Given the description of an element on the screen output the (x, y) to click on. 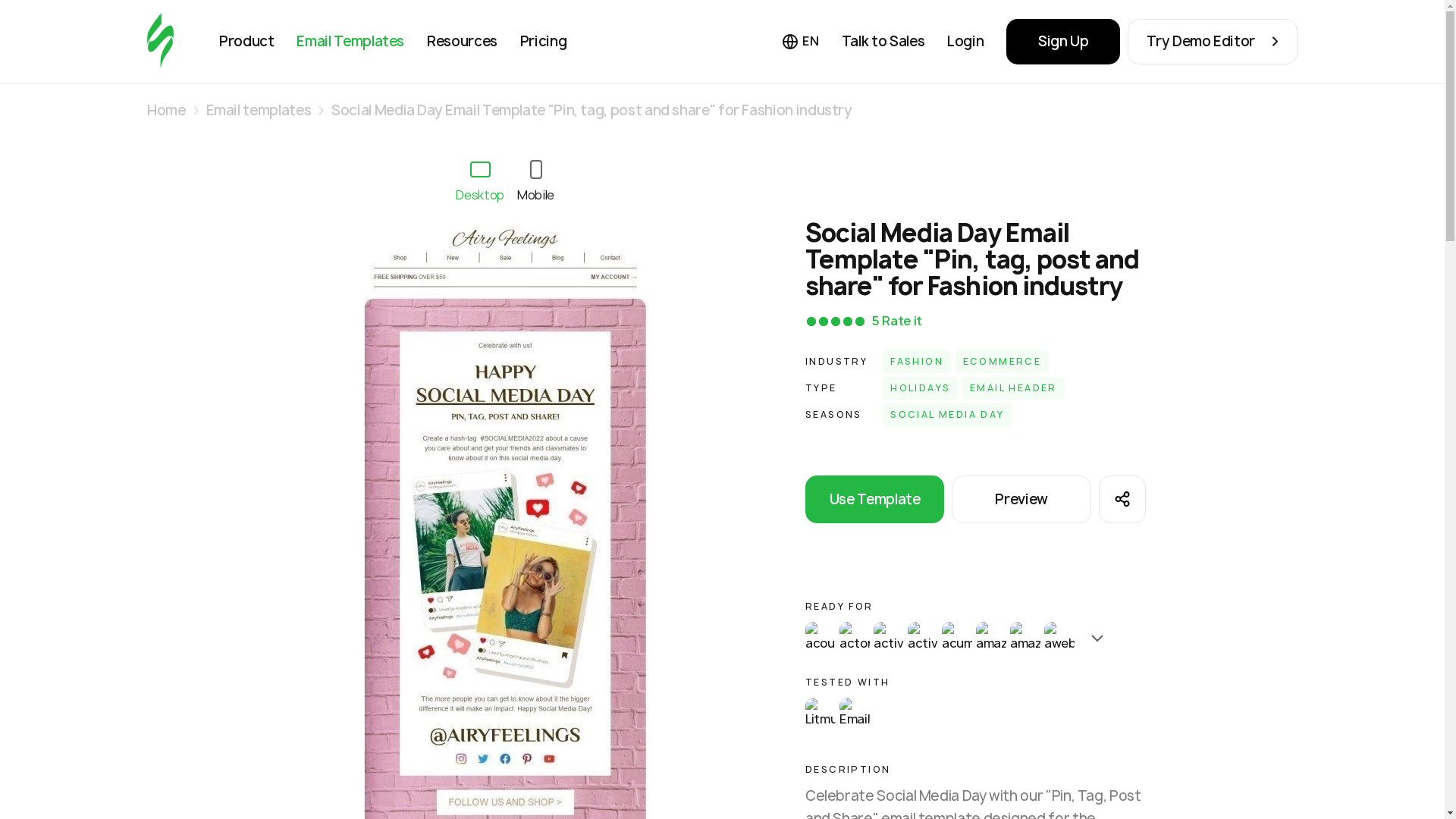
ActiveTrail email builder (922, 636)
 Use Template (874, 499)
Sign Up (1062, 40)
Pricing (542, 40)
Acumbamail email builder (957, 636)
Amazon Pinpoint email builder (990, 636)
Try Demo Editor (1211, 40)
Acoustic Campaign email builder (820, 636)
Act-On email builder (854, 636)
Login (965, 40)
